Given the description of an element on the screen output the (x, y) to click on. 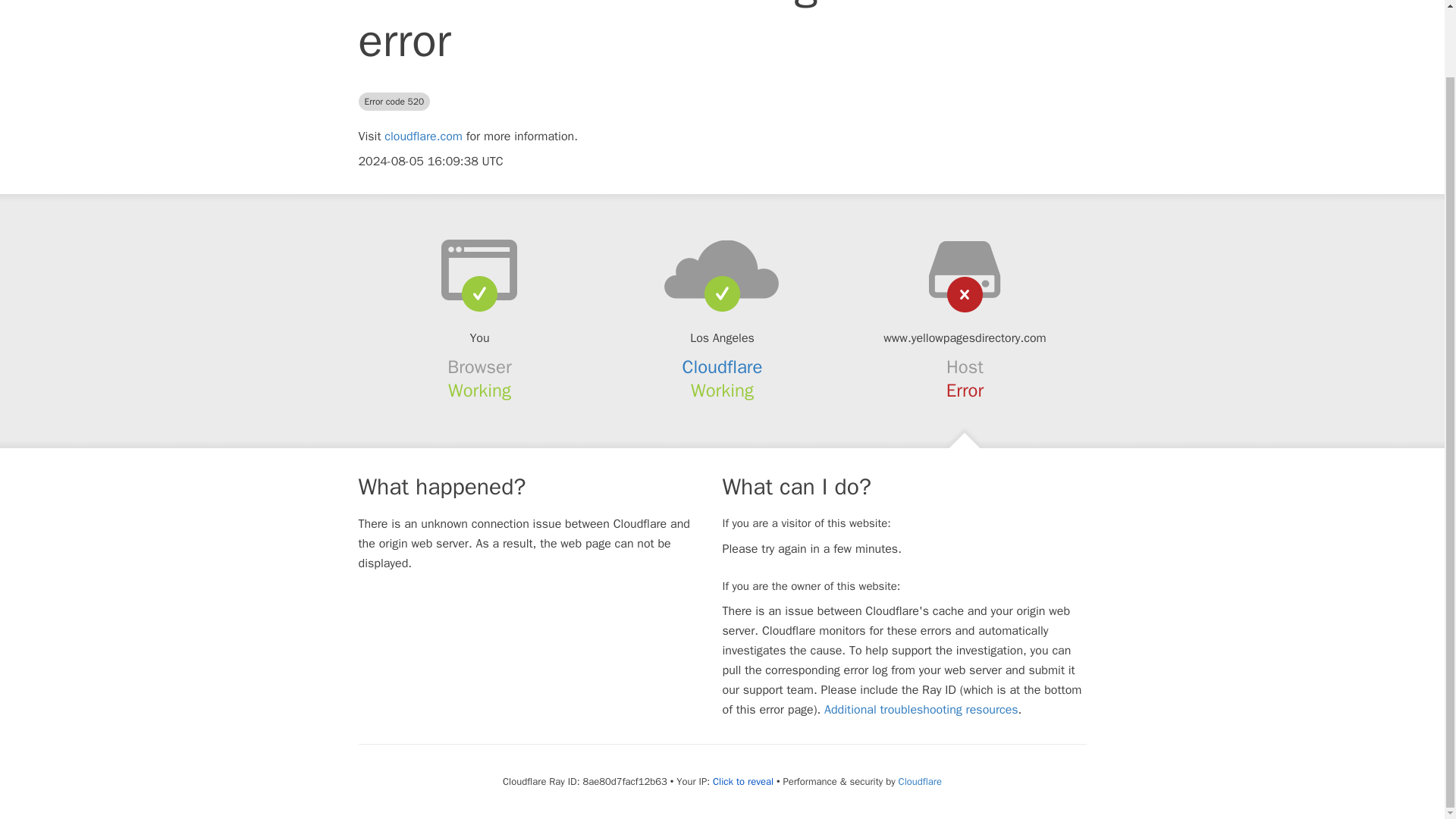
cloudflare.com (423, 136)
Cloudflare (722, 366)
Cloudflare (920, 780)
Additional troubleshooting resources (920, 709)
Click to reveal (743, 781)
